Given the description of an element on the screen output the (x, y) to click on. 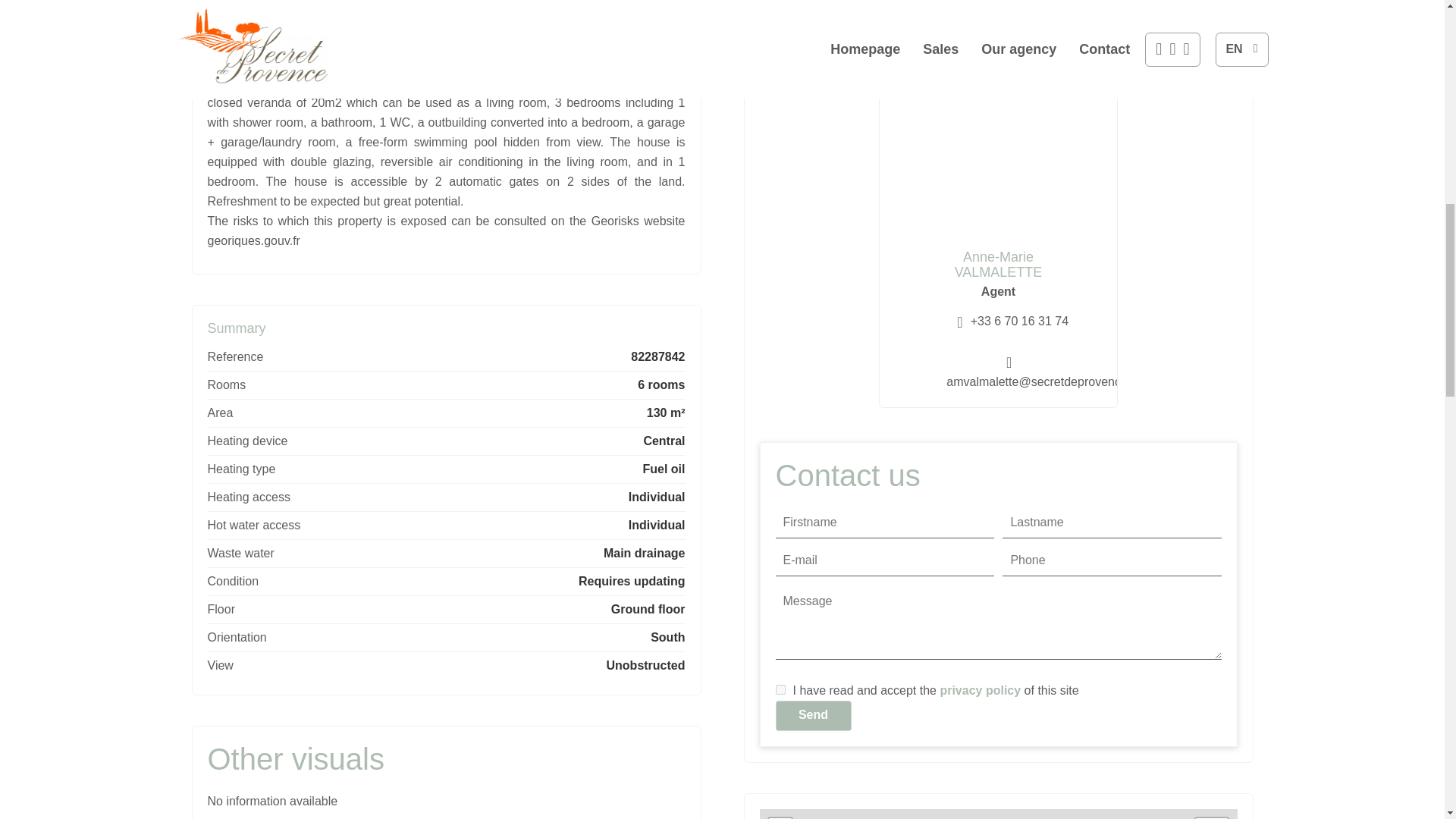
on (779, 689)
privacy policy (979, 689)
Send (812, 716)
